Given the description of an element on the screen output the (x, y) to click on. 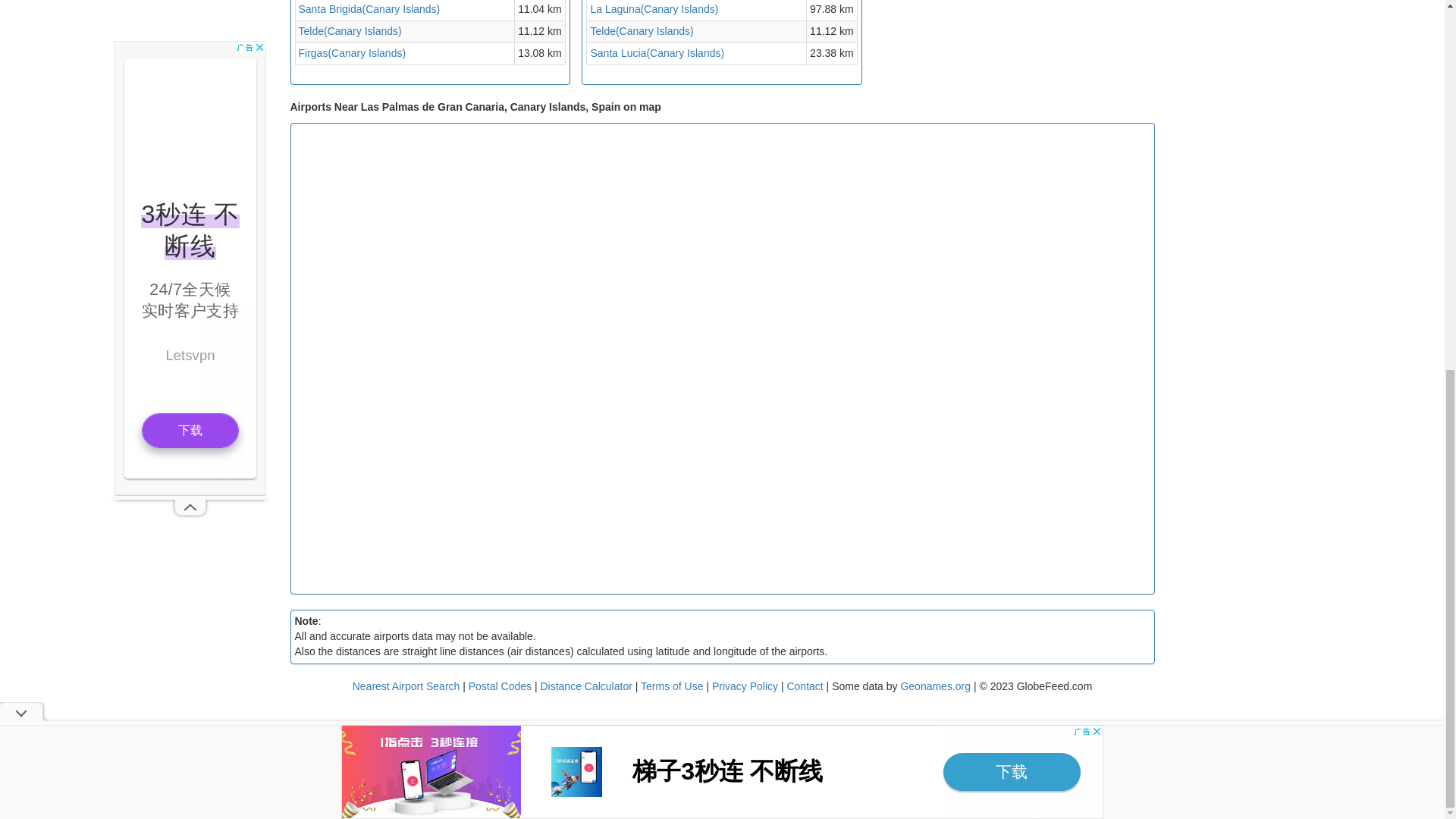
Privacy Policy (745, 686)
Contact (804, 686)
Advertisement (1083, 354)
Postal Codes (499, 686)
Airports near Santa Lucia, Canary Islands, Spain (656, 52)
Distance Calculator (585, 686)
Airports near Telde, Canary Islands, Spain (641, 30)
Airports near La Laguna, Canary Islands, Spain (653, 9)
Terms of Use (673, 686)
Airports near Telde, Canary Islands, Spain (349, 30)
Geonames.org (935, 686)
Airports near Firgas, Canary Islands, Spain (352, 52)
Nearest Airport Search (406, 686)
Airports near Santa Brigida, Canary Islands, Spain (369, 9)
